Given the description of an element on the screen output the (x, y) to click on. 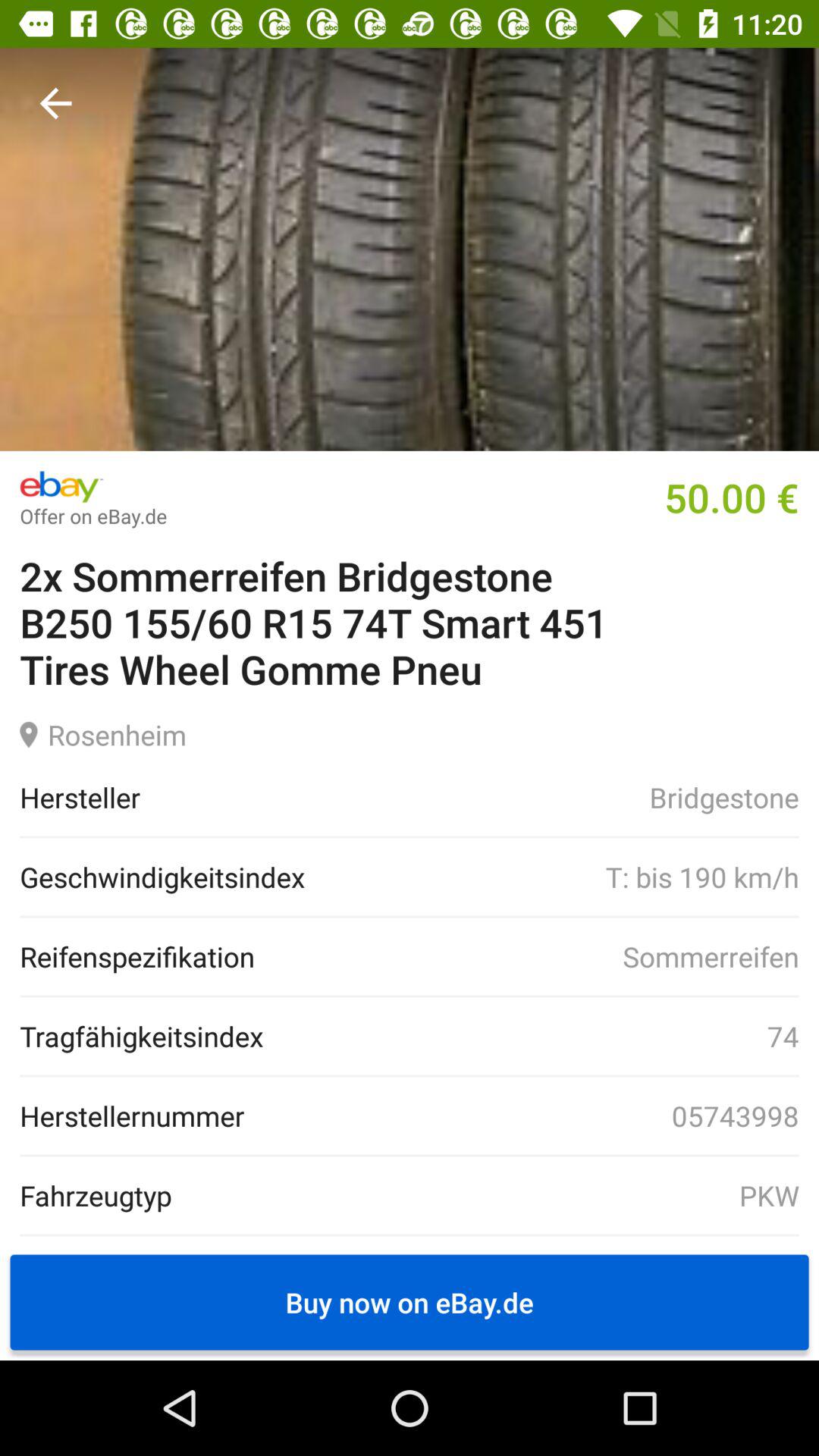
launch the fahrzeugtyp (95, 1195)
